Given the description of an element on the screen output the (x, y) to click on. 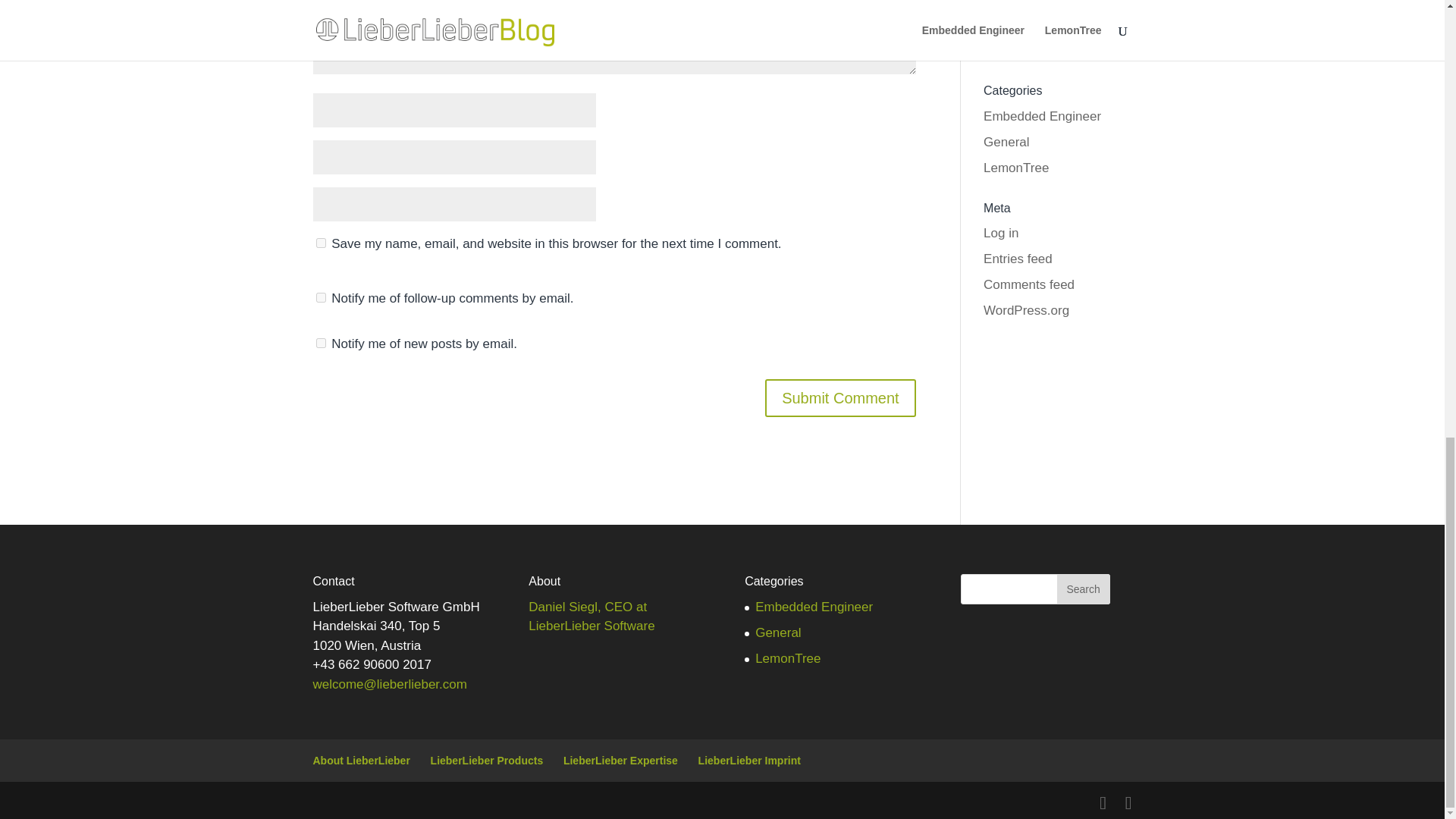
subscribe (319, 343)
Daniel Siegl, CEO at (587, 606)
Embedded Engineer (813, 606)
LemonTree (788, 658)
Search (1083, 589)
Log in (1000, 233)
Embedded Engineer (1042, 115)
LieberLieber Software (590, 626)
Search (1083, 589)
yes (319, 243)
Comments feed (1029, 284)
LemonTree (1016, 167)
Entries feed (1018, 258)
subscribe (319, 297)
Submit Comment (840, 397)
